Given the description of an element on the screen output the (x, y) to click on. 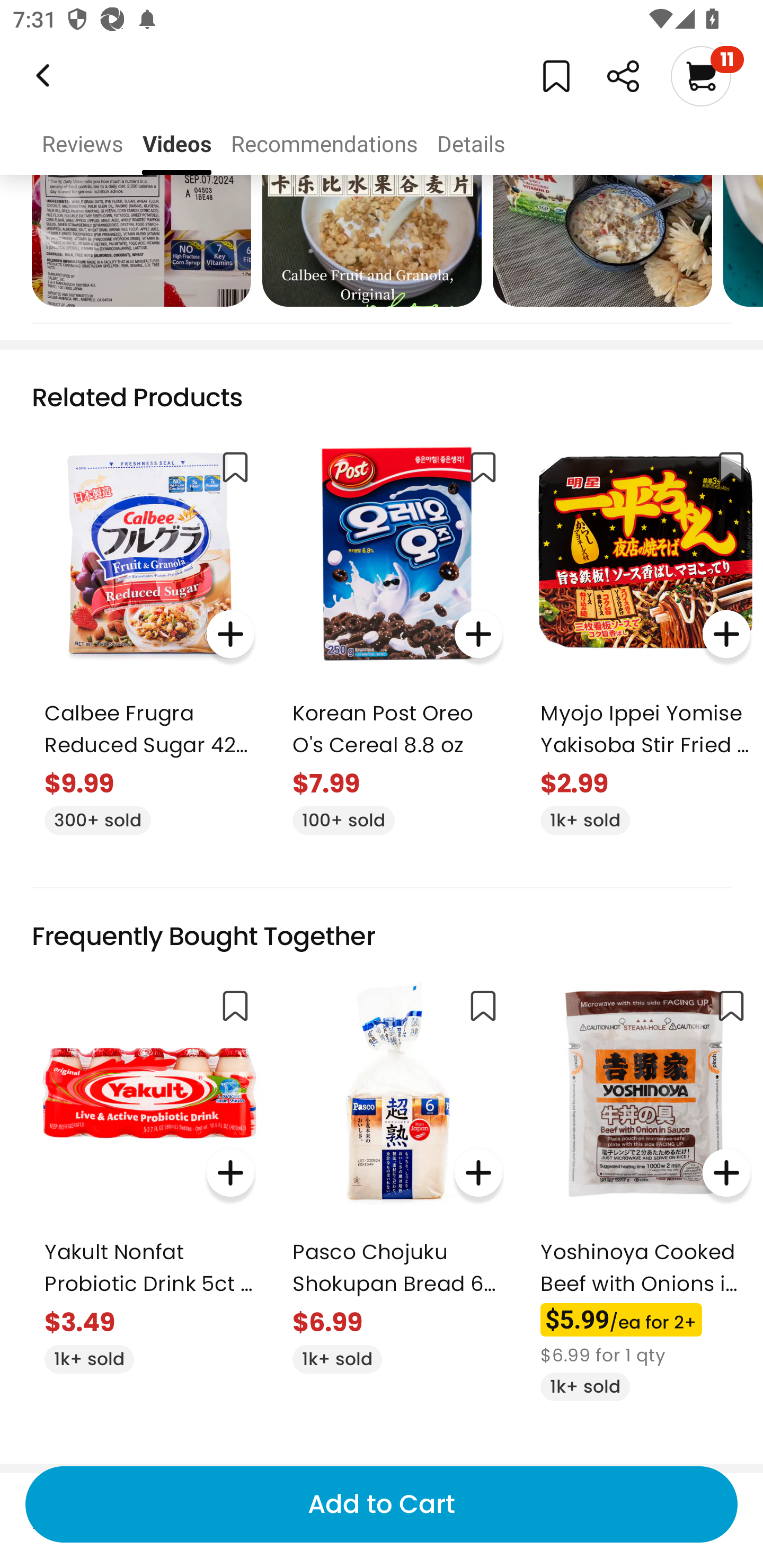
Weee! (41, 75)
11 (706, 75)
Weee! (623, 75)
Reviews (82, 144)
Videos (176, 144)
Recommendations (324, 144)
Details (470, 144)
Calbee Frugra Reduced Sugar 425 g $9.99 300+ sold (149, 634)
Korean Post Oreo O's Cereal 8.8 oz $7.99 100+ sold (397, 634)
Add to Cart (381, 1504)
Add to Cart (381, 1504)
